Given the description of an element on the screen output the (x, y) to click on. 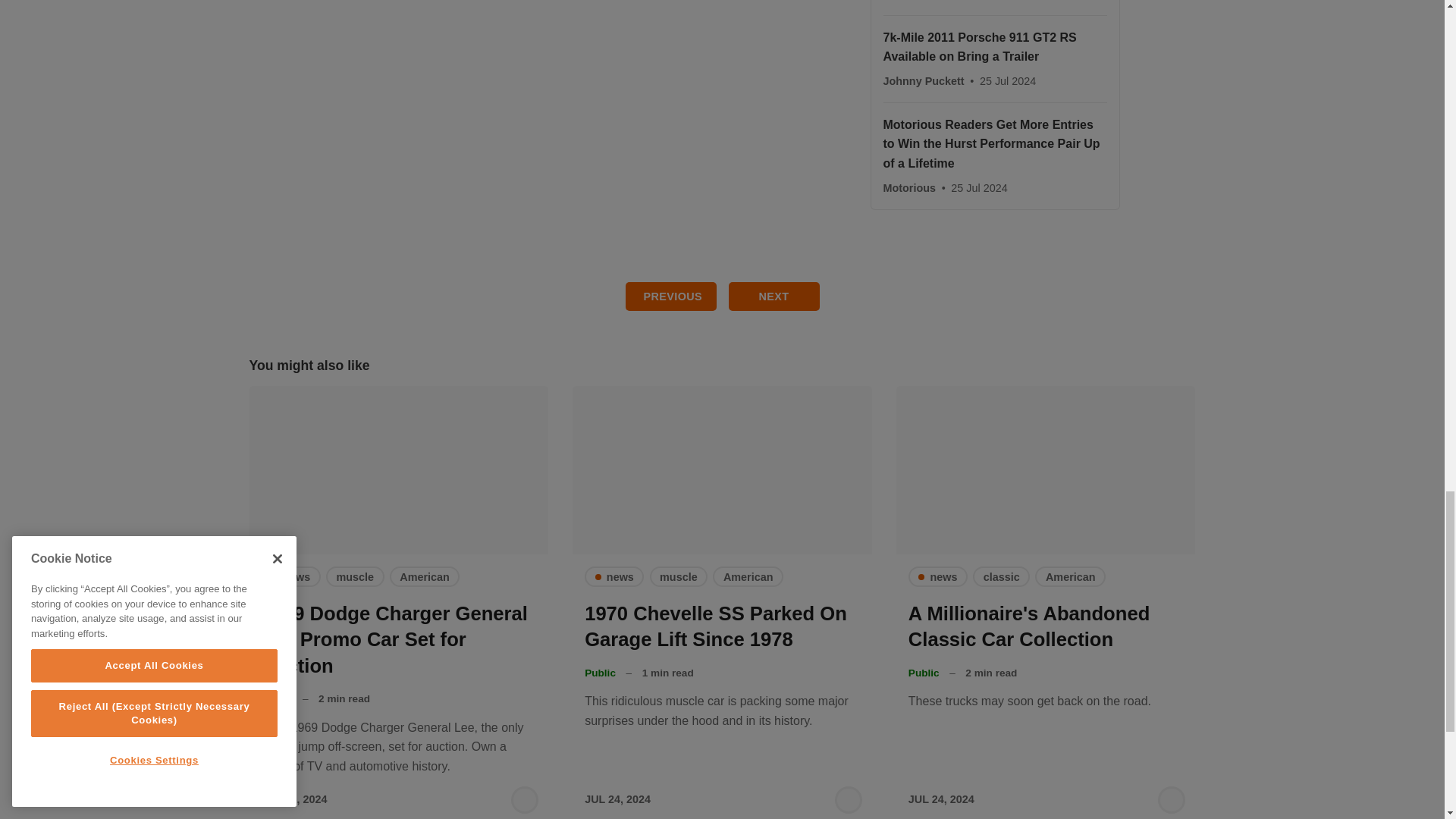
YouTube video player (554, 99)
